Given the description of an element on the screen output the (x, y) to click on. 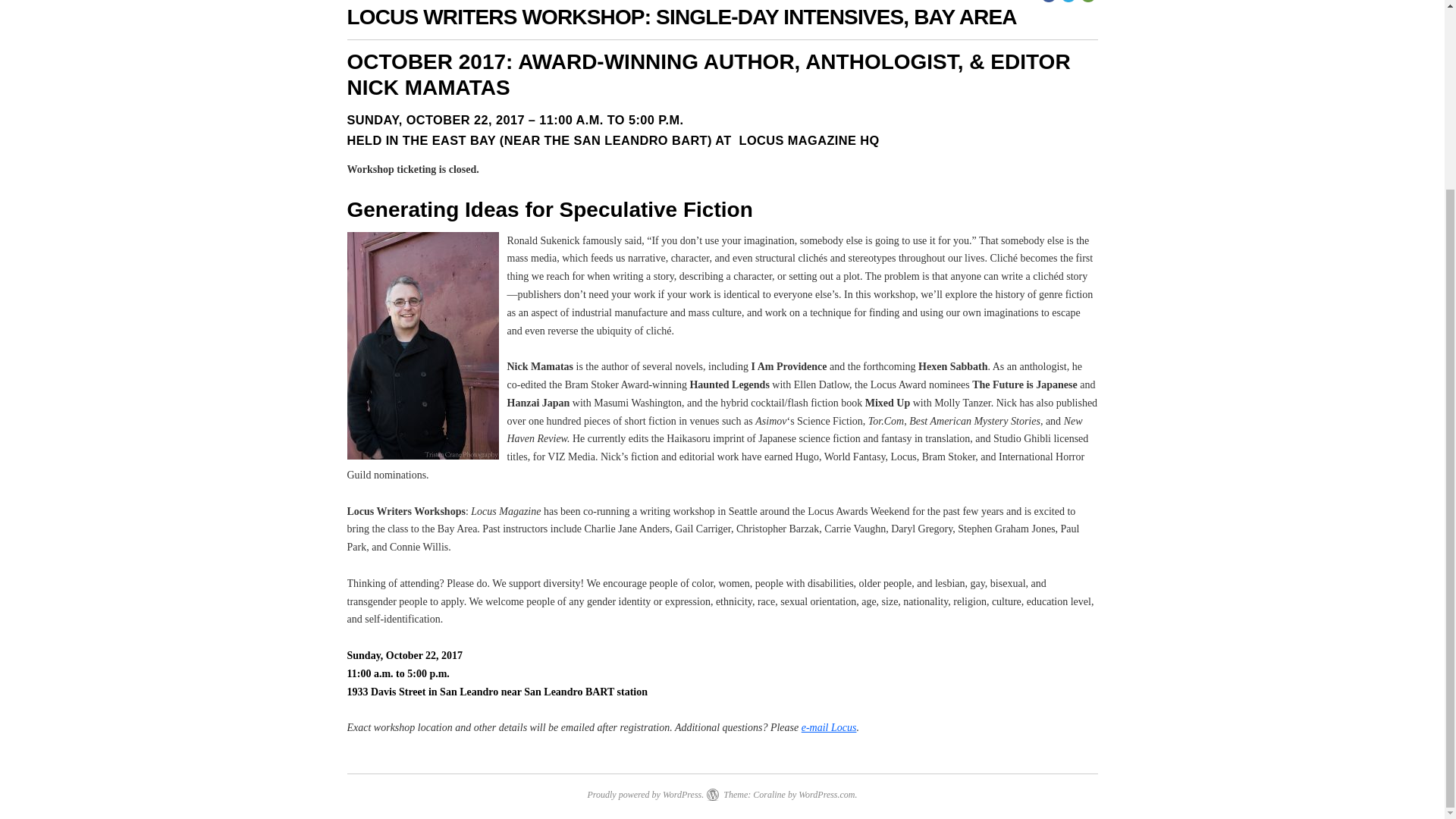
A Semantic Personal Publishing Platform (644, 794)
twitter (1068, 2)
facebook (1048, 2)
e-mail Locus (829, 727)
email (1087, 2)
WordPress.com (825, 794)
Proudly powered by WordPress. (644, 794)
